Given the description of an element on the screen output the (x, y) to click on. 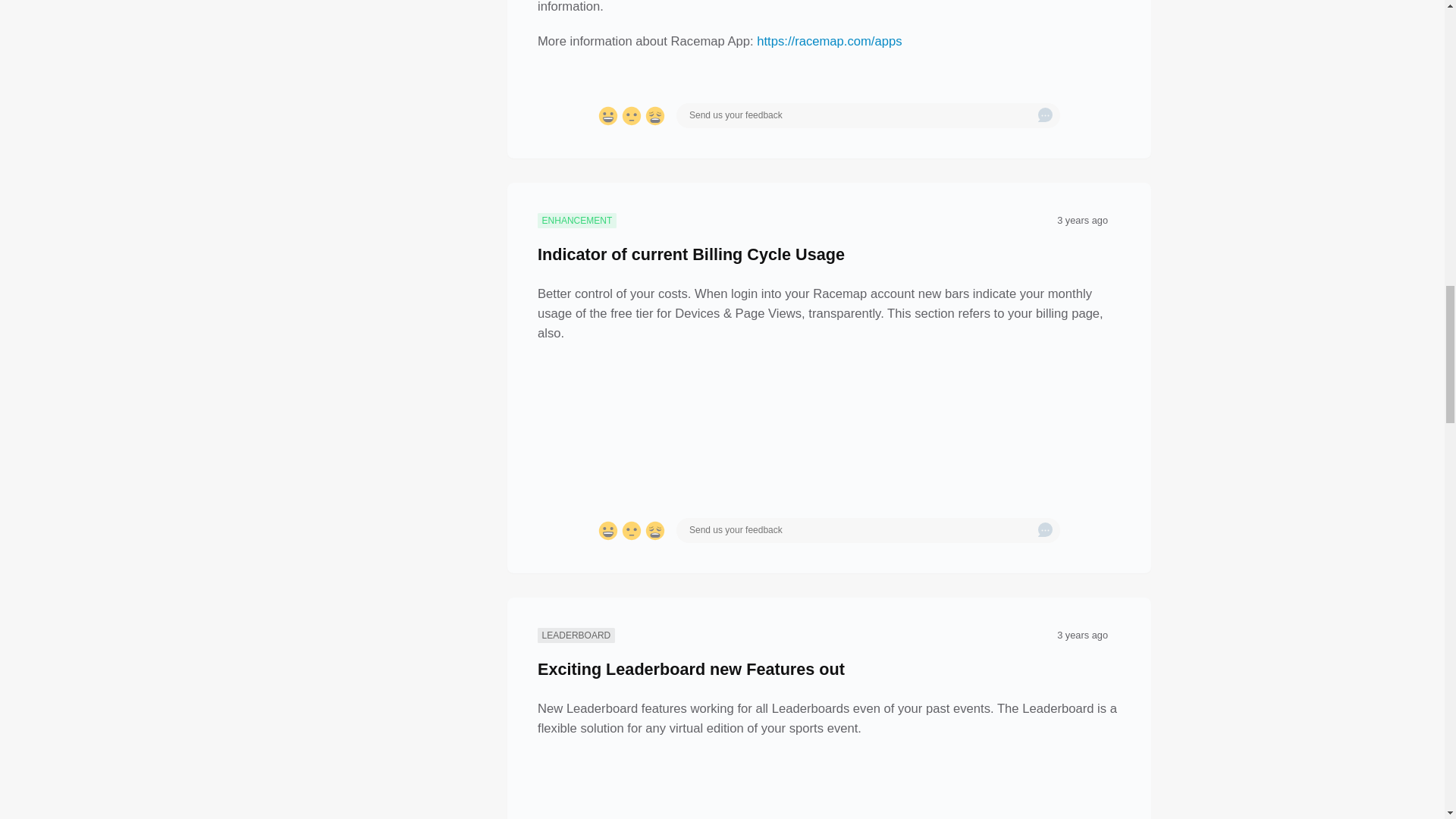
Submit Button (1044, 115)
Submit Button (1044, 530)
